Given the description of an element on the screen output the (x, y) to click on. 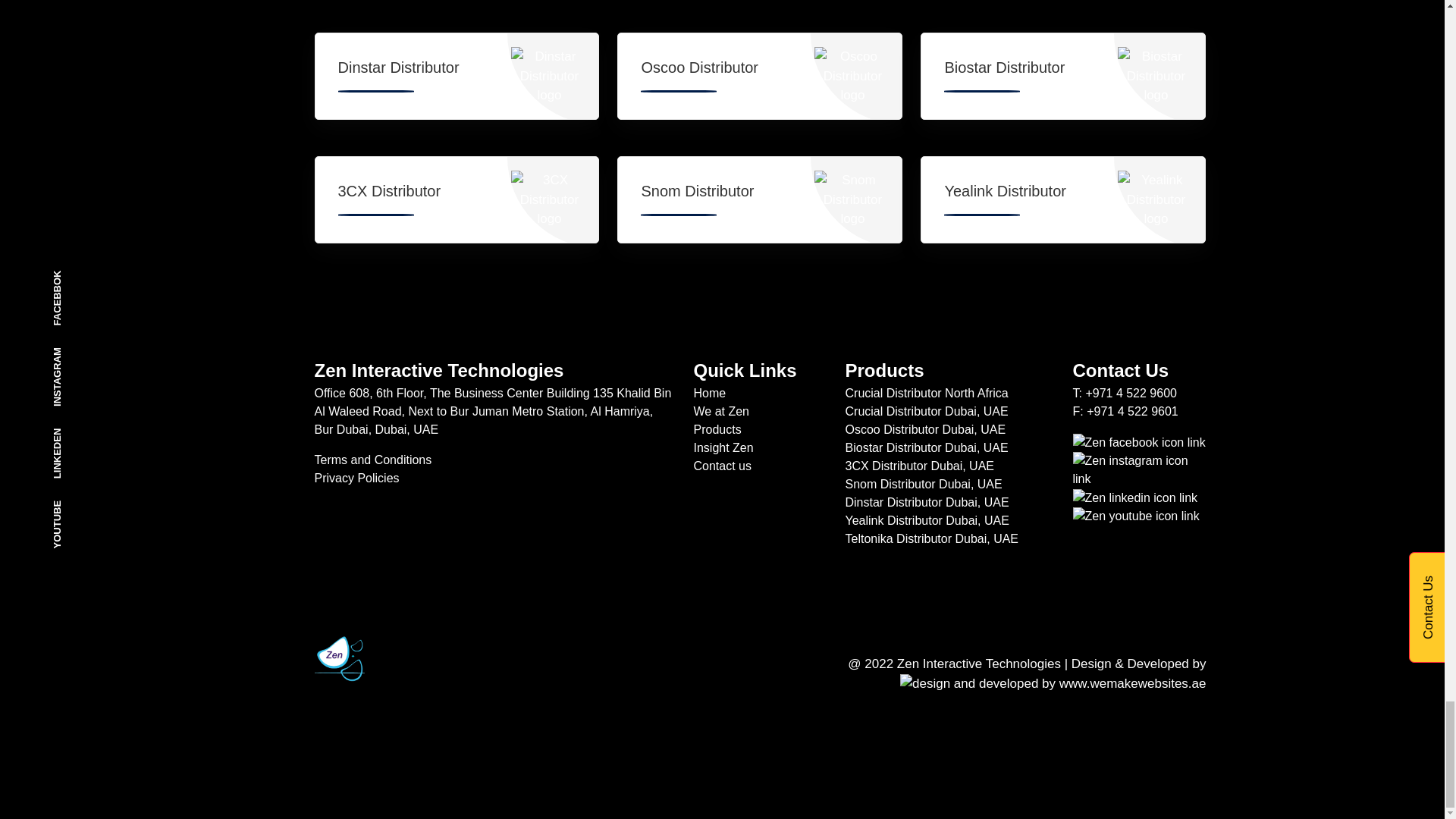
zen (1138, 443)
zen (1133, 497)
zen (1134, 515)
zen (1138, 470)
www.wemakewebsites.ae (1052, 683)
